Given the description of an element on the screen output the (x, y) to click on. 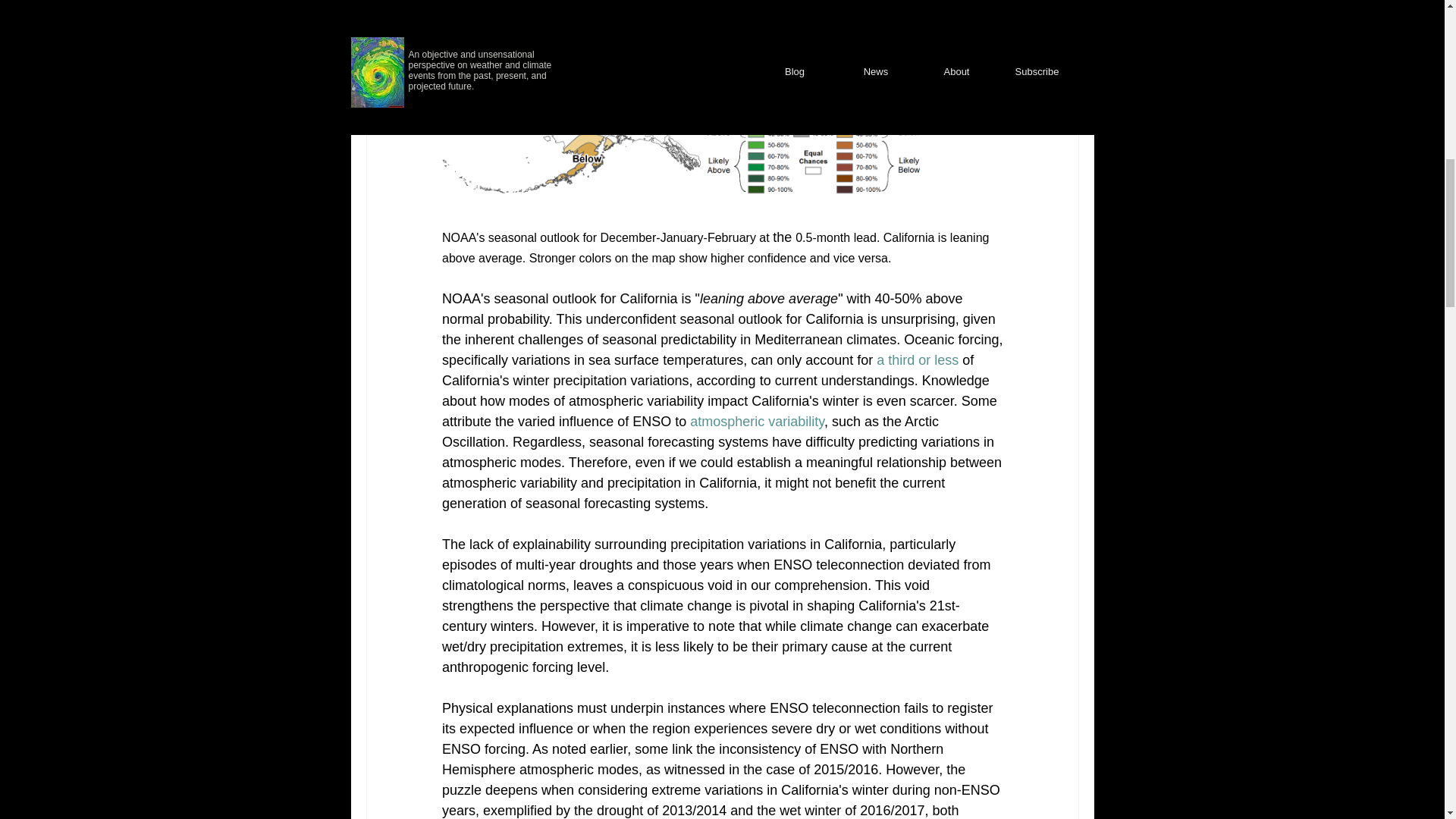
a third or less  (919, 359)
atmospheric variability (757, 421)
